Given the description of an element on the screen output the (x, y) to click on. 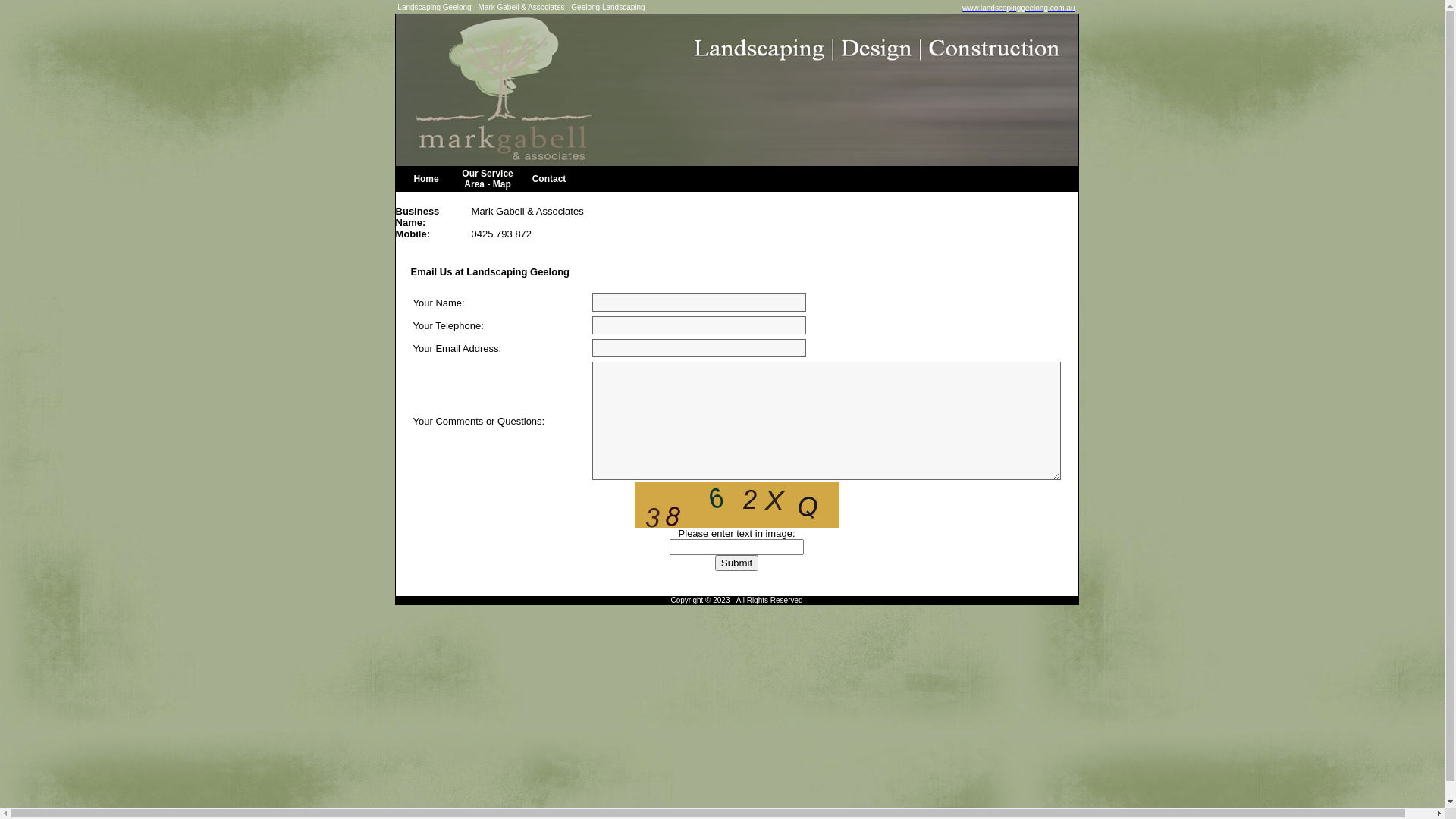
Submit Element type: text (736, 563)
www.landscapinggeelong.com.au Element type: text (1018, 6)
Home Element type: text (425, 178)
Our Service Area - Map Element type: text (486, 178)
Contact Element type: text (549, 178)
